Given the description of an element on the screen output the (x, y) to click on. 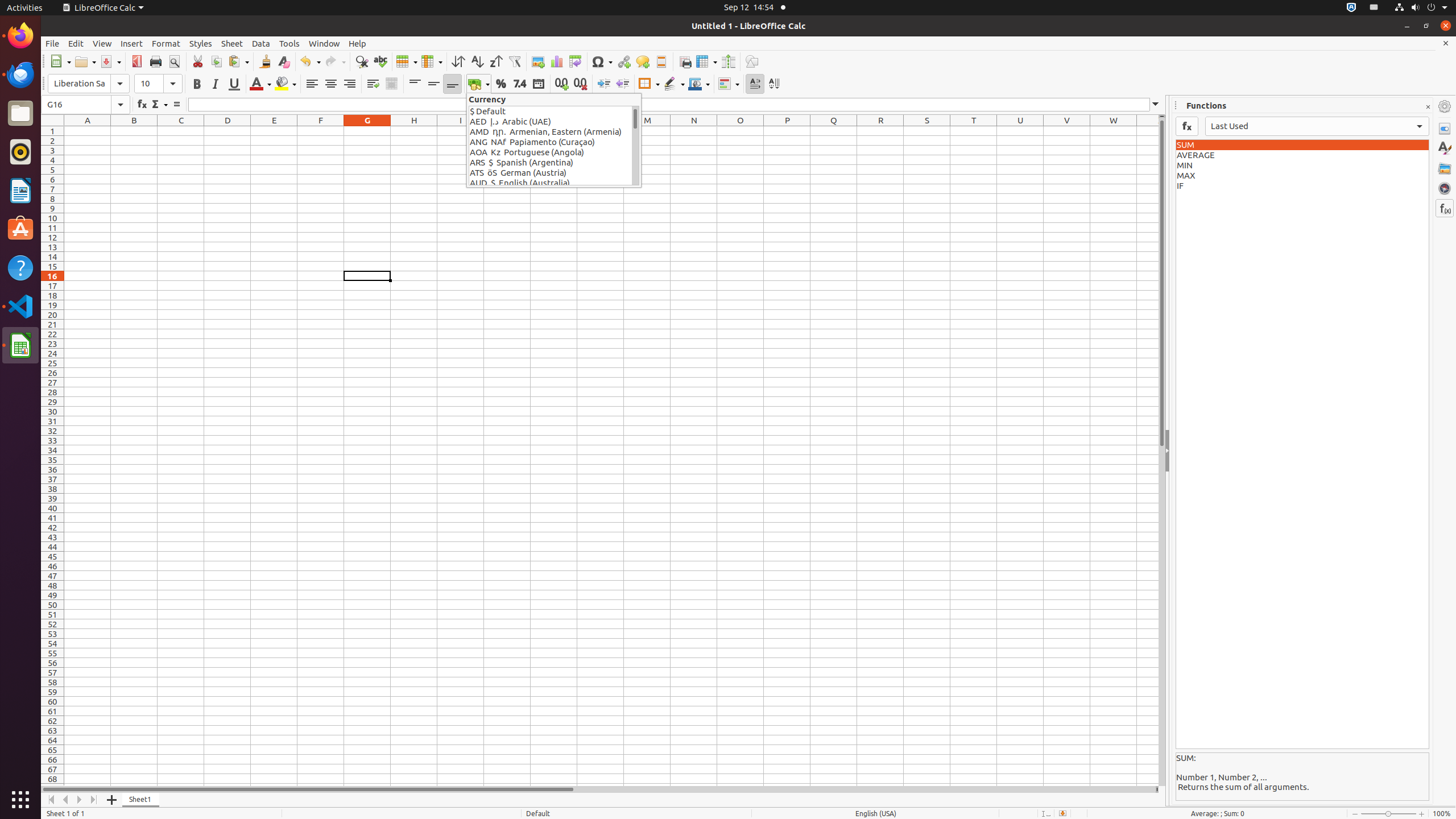
Select Function Element type: push-button (159, 104)
‪AED‬  ‫د.إ‏‬  ‪Arabic (UAE)‬ Element type: list-item (550, 121)
Sheet1 Element type: page-tab (140, 799)
Delete Decimal Place Element type: push-button (580, 83)
V1 Element type: table-cell (1066, 130)
